Given the description of an element on the screen output the (x, y) to click on. 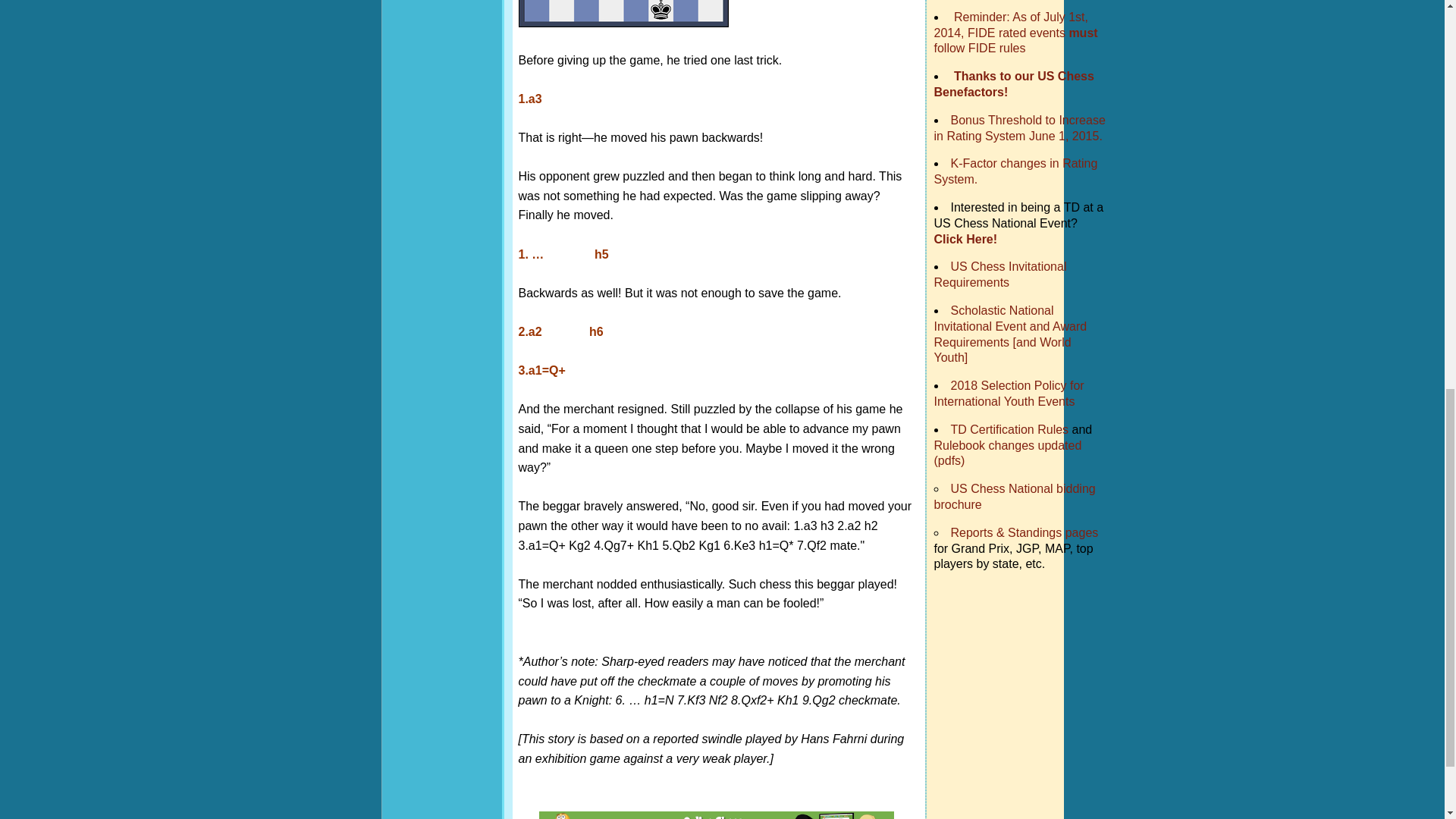
US Chess Invitational Requirements (1000, 274)
Thanks to our US Chess Benefactors! (1014, 83)
Click Here! (965, 238)
page71.jpg (623, 13)
K-Factor changes in Rating System. (1015, 171)
Bonus Threshold to Increase in Rating System June 1, 2015. (1019, 127)
